Given the description of an element on the screen output the (x, y) to click on. 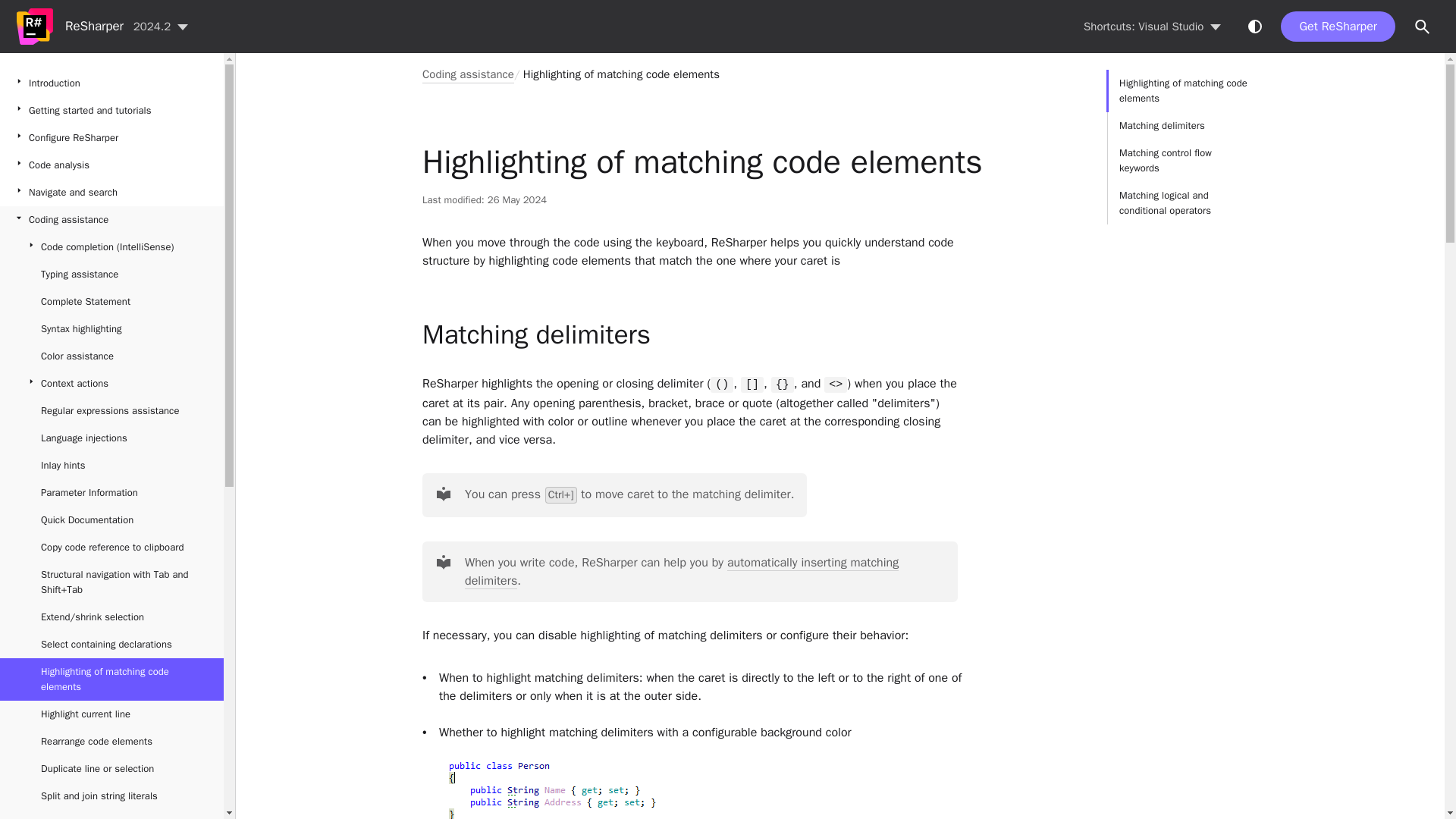
Copy code reference to clipboard (112, 547)
Language injections (112, 438)
Complete Statement (112, 301)
Coding assistance (112, 219)
Highlighting of matching code elements (112, 679)
Split and join string literals (112, 795)
Introduction (112, 83)
Navigate and search (112, 192)
Getting started and tutorials (112, 110)
Typing assistance (112, 274)
